Given the description of an element on the screen output the (x, y) to click on. 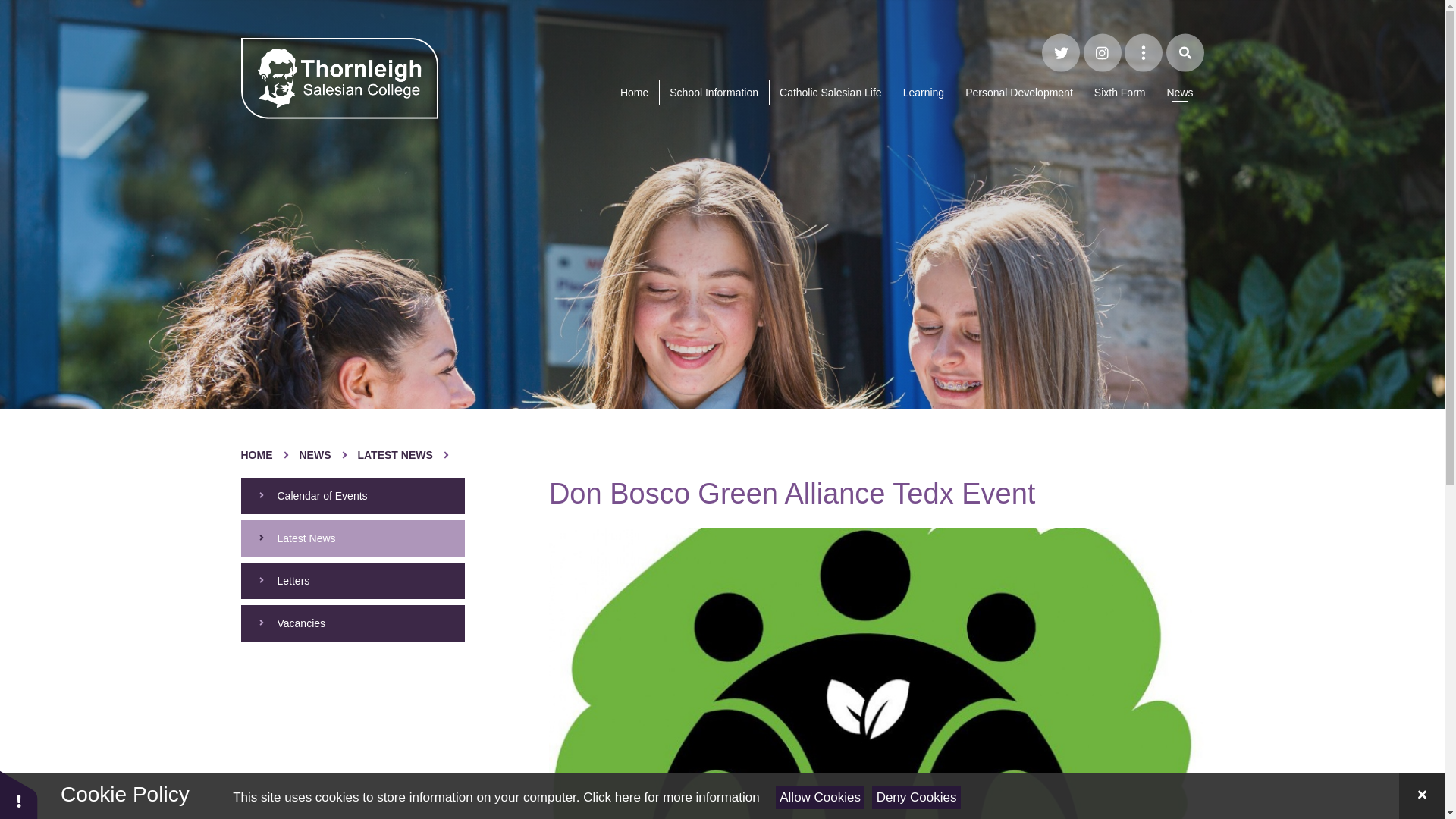
Deny Cookies (915, 797)
Allow Cookies (820, 797)
Home (634, 92)
School Information (713, 92)
See cookie policy (670, 797)
